Given the description of an element on the screen output the (x, y) to click on. 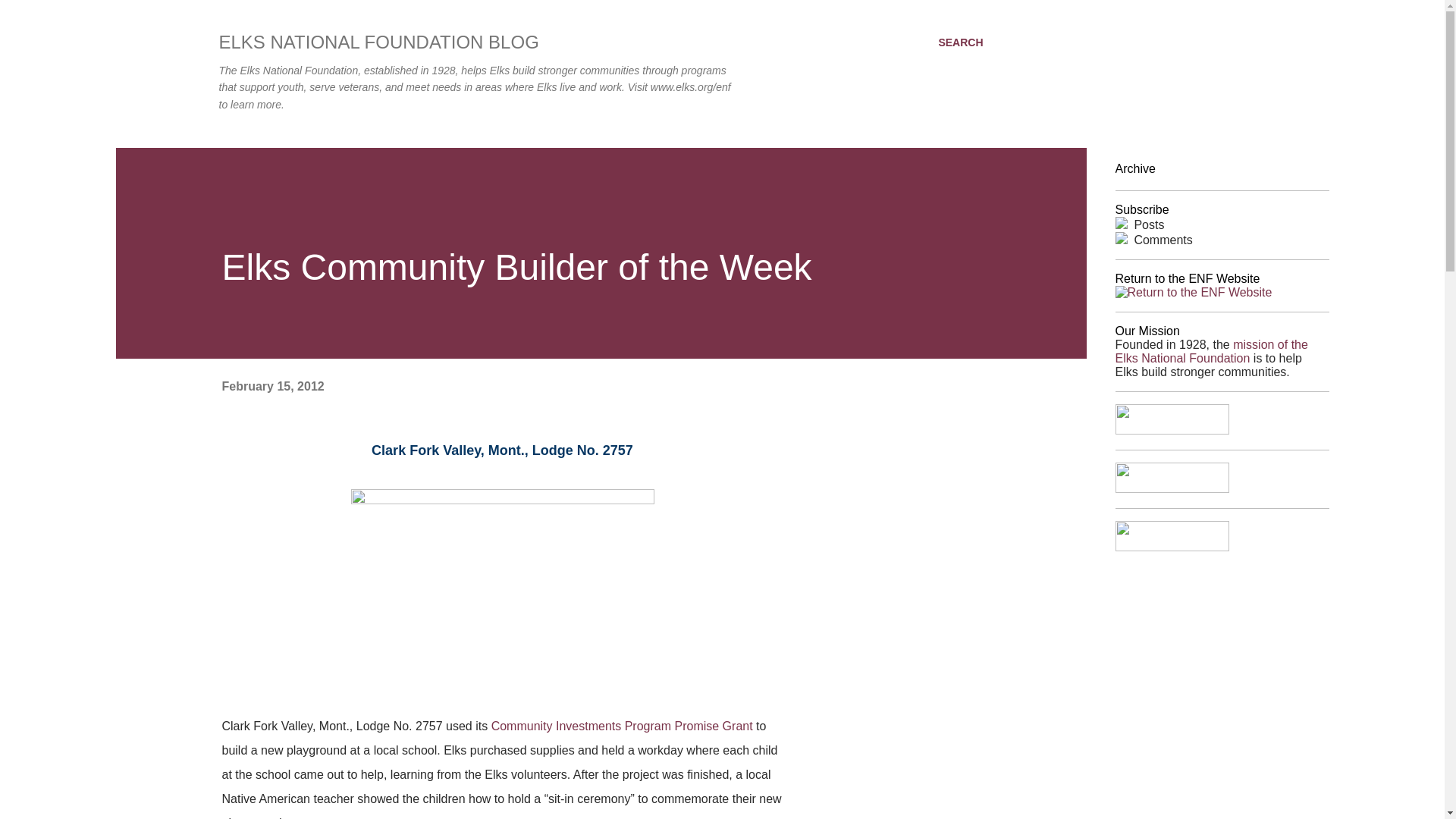
Community Investments Program Promise Grant (622, 725)
ELKS NATIONAL FOUNDATION BLOG (378, 41)
February 15, 2012 (272, 386)
permanent link (272, 386)
SEARCH (959, 42)
